Given the description of an element on the screen output the (x, y) to click on. 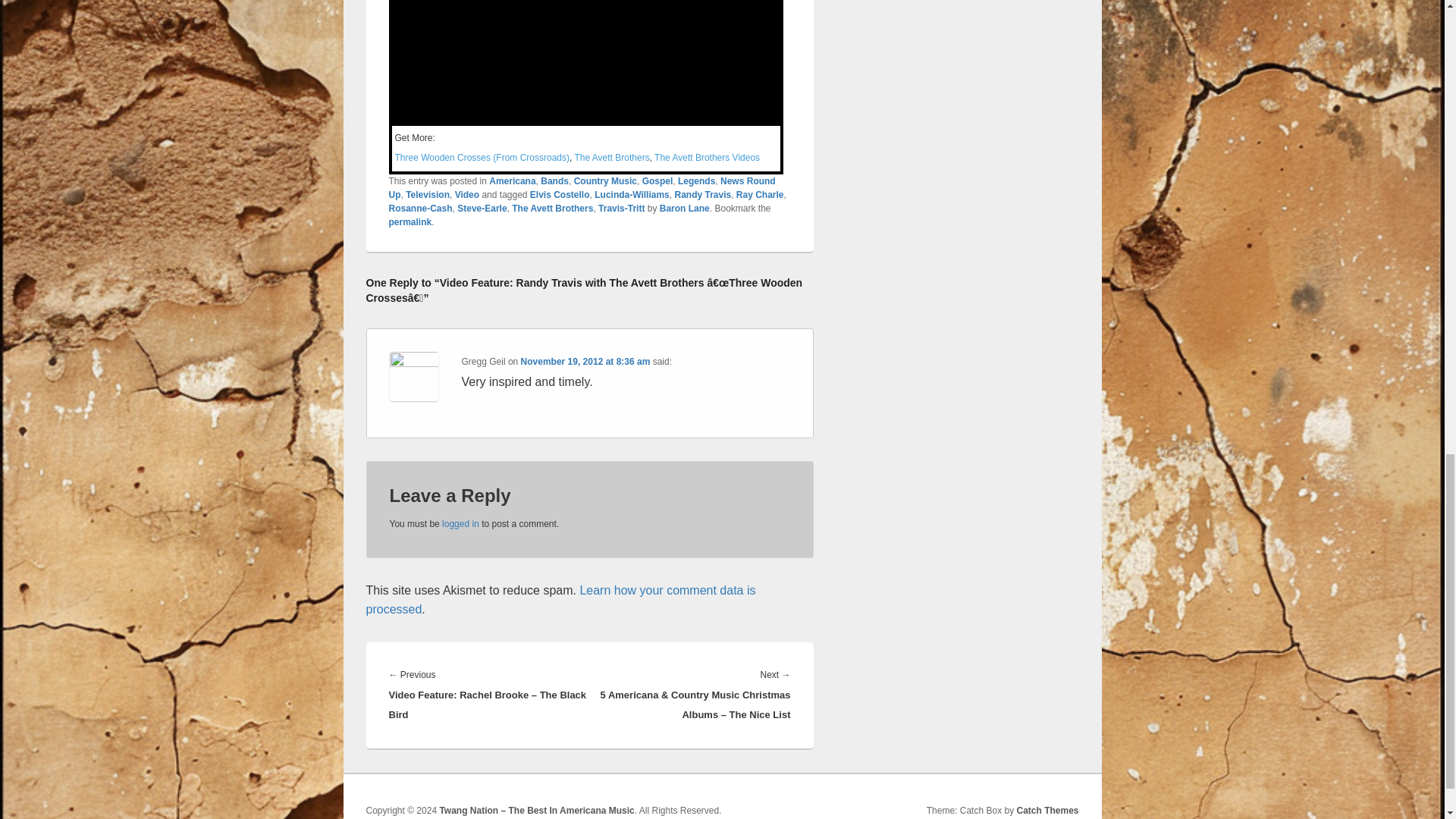
Video (466, 194)
Lucinda-Williams (631, 194)
November 19, 2012 at 8:36 am (585, 361)
News Round Up (581, 187)
Catch Themes (1047, 810)
logged in (460, 523)
The Avett Brothers (611, 157)
Baron Lane (684, 208)
Bands (554, 181)
Ray Charle (760, 194)
Television (427, 194)
Learn how your comment data is processed (560, 599)
Elvis Costello (559, 194)
Steve-Earle (481, 208)
Rosanne-Cash (419, 208)
